Given the description of an element on the screen output the (x, y) to click on. 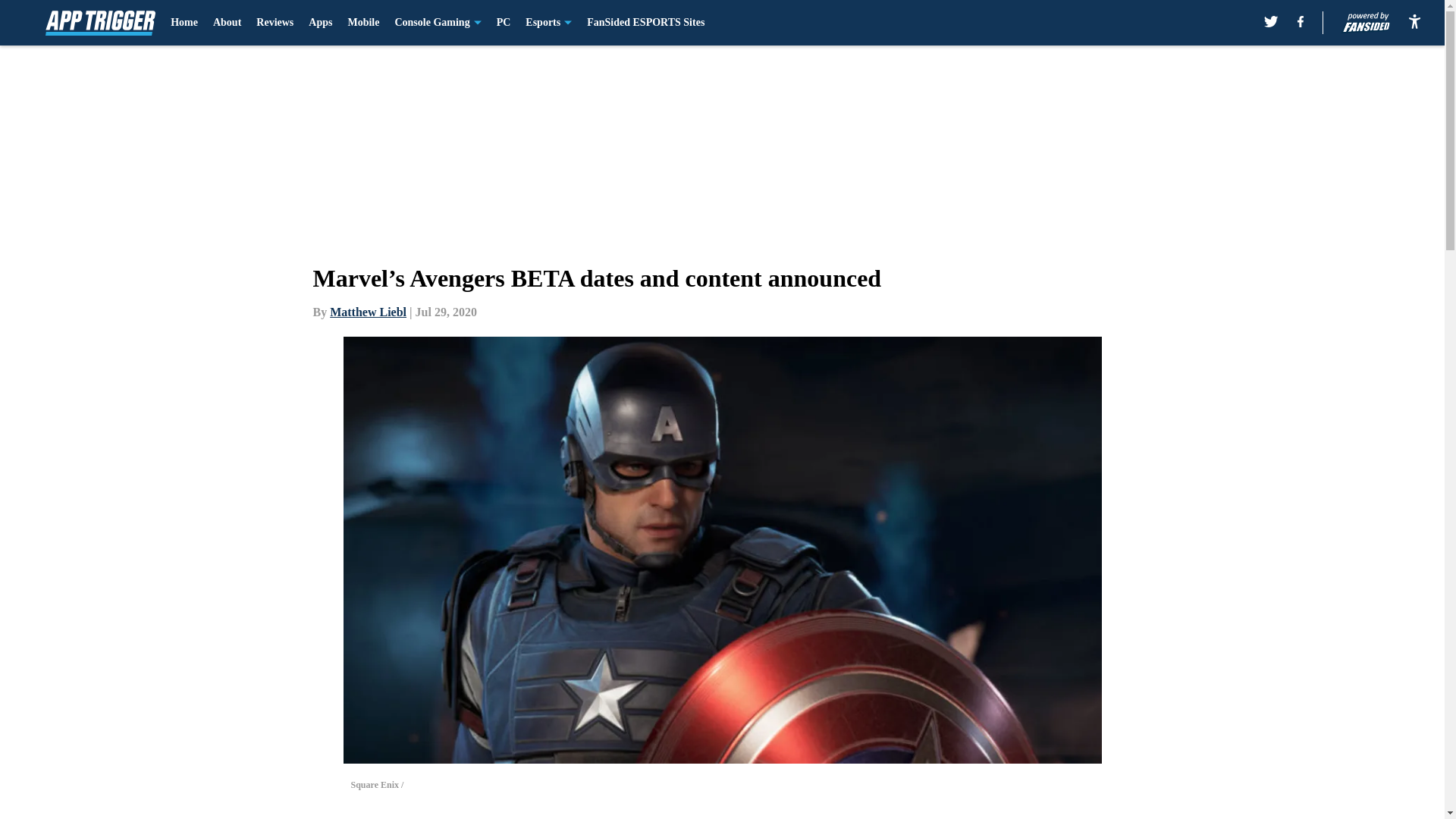
About (226, 22)
Home (184, 22)
Mobile (362, 22)
PC (503, 22)
Reviews (275, 22)
FanSided ESPORTS Sites (645, 22)
Matthew Liebl (368, 311)
Apps (319, 22)
